Given the description of an element on the screen output the (x, y) to click on. 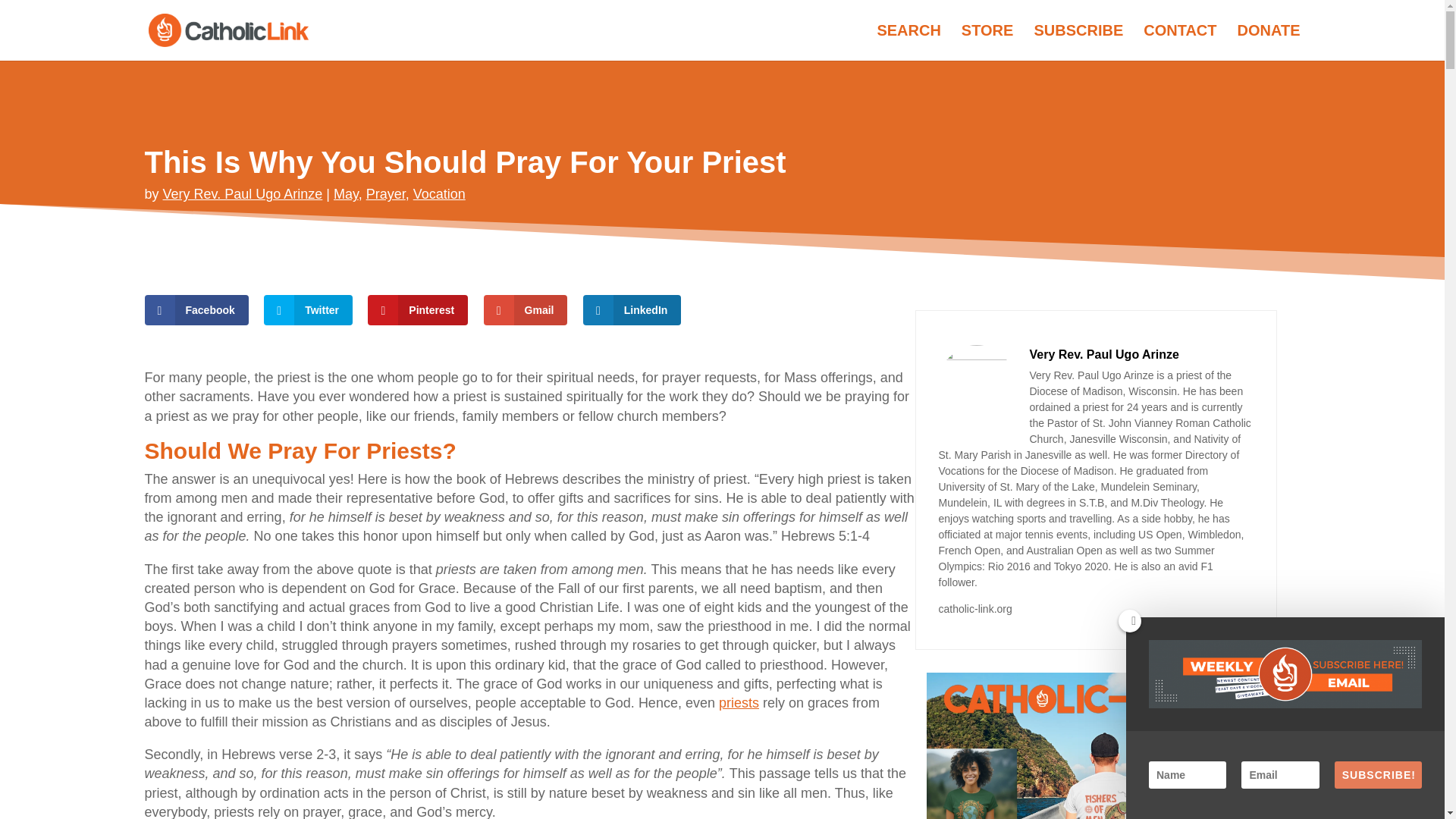
May (345, 193)
Facebook (195, 309)
Twitter (307, 309)
Very Rev. Paul Ugo Arinze (243, 193)
SEARCH (908, 42)
LinkedIn (632, 309)
STORE (986, 42)
priests (738, 702)
Prayer (386, 193)
Posts by Very Rev. Paul Ugo Arinze (243, 193)
Gmail (525, 309)
DONATE (1268, 42)
SUBSCRIBE (1077, 42)
Pinterest (417, 309)
CONTACT (1178, 42)
